Given the description of an element on the screen output the (x, y) to click on. 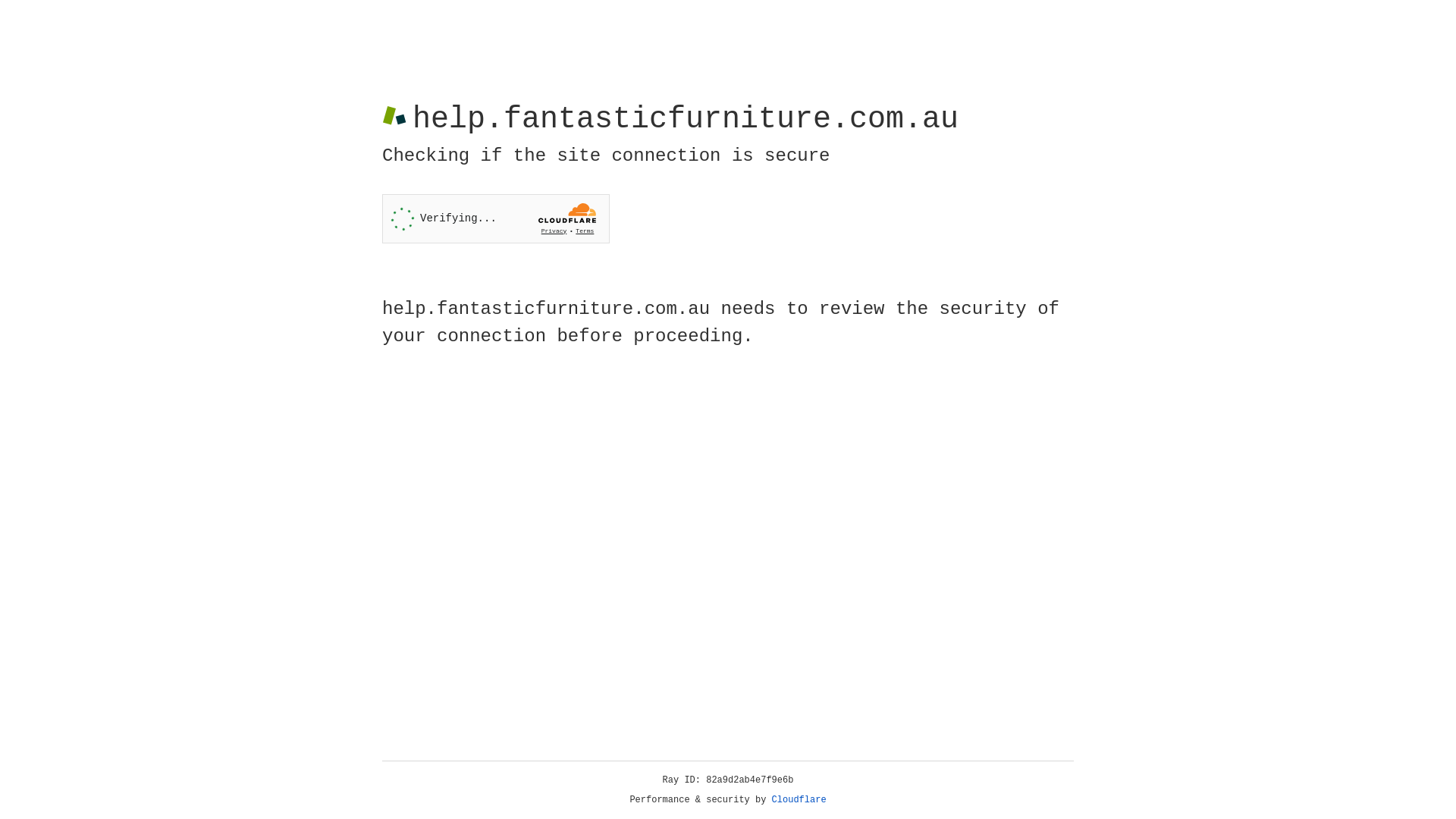
Cloudflare Element type: text (798, 799)
Widget containing a Cloudflare security challenge Element type: hover (495, 218)
